Given the description of an element on the screen output the (x, y) to click on. 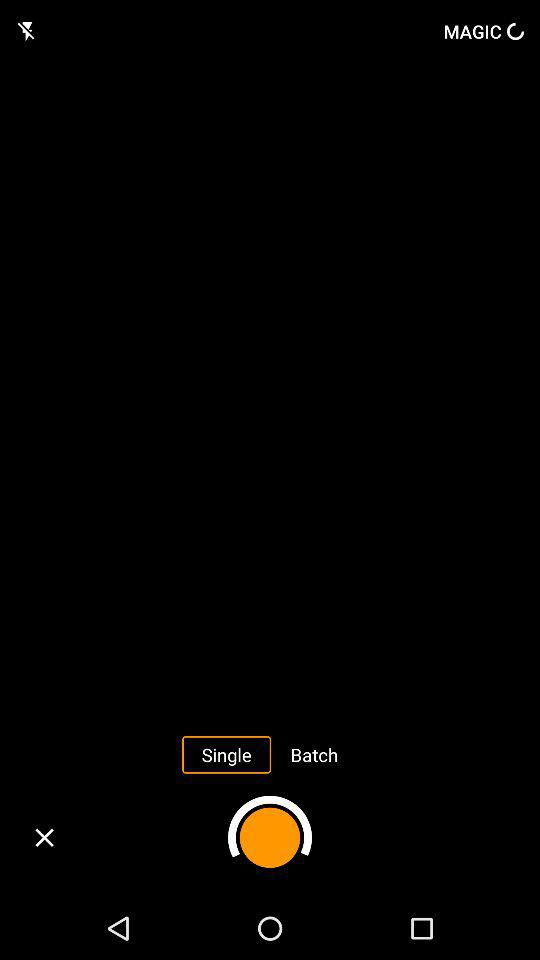
click icon below the single icon (270, 837)
